Given the description of an element on the screen output the (x, y) to click on. 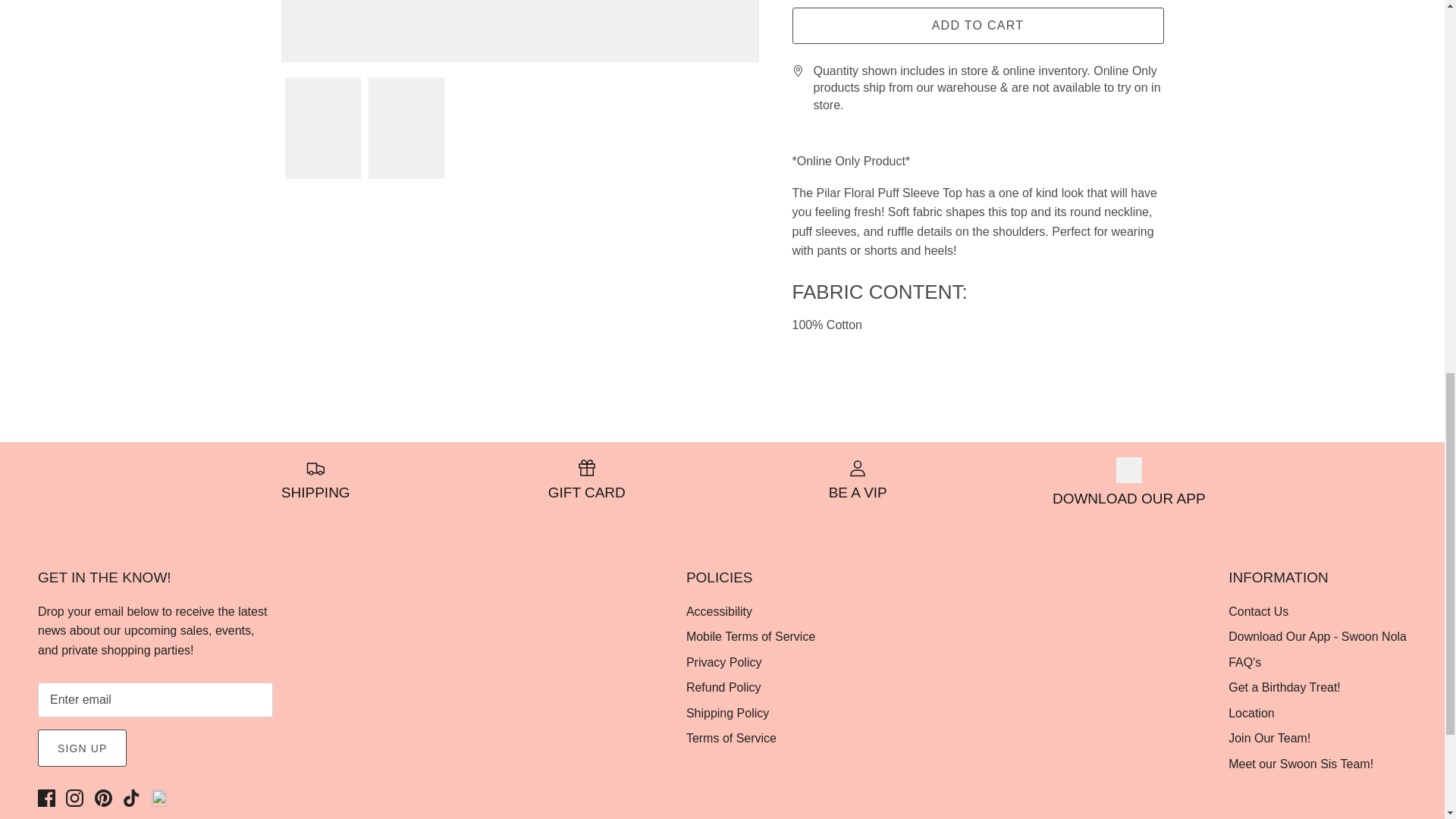
Pinterest (103, 797)
Facebook (46, 797)
Instagram (73, 797)
